Given the description of an element on the screen output the (x, y) to click on. 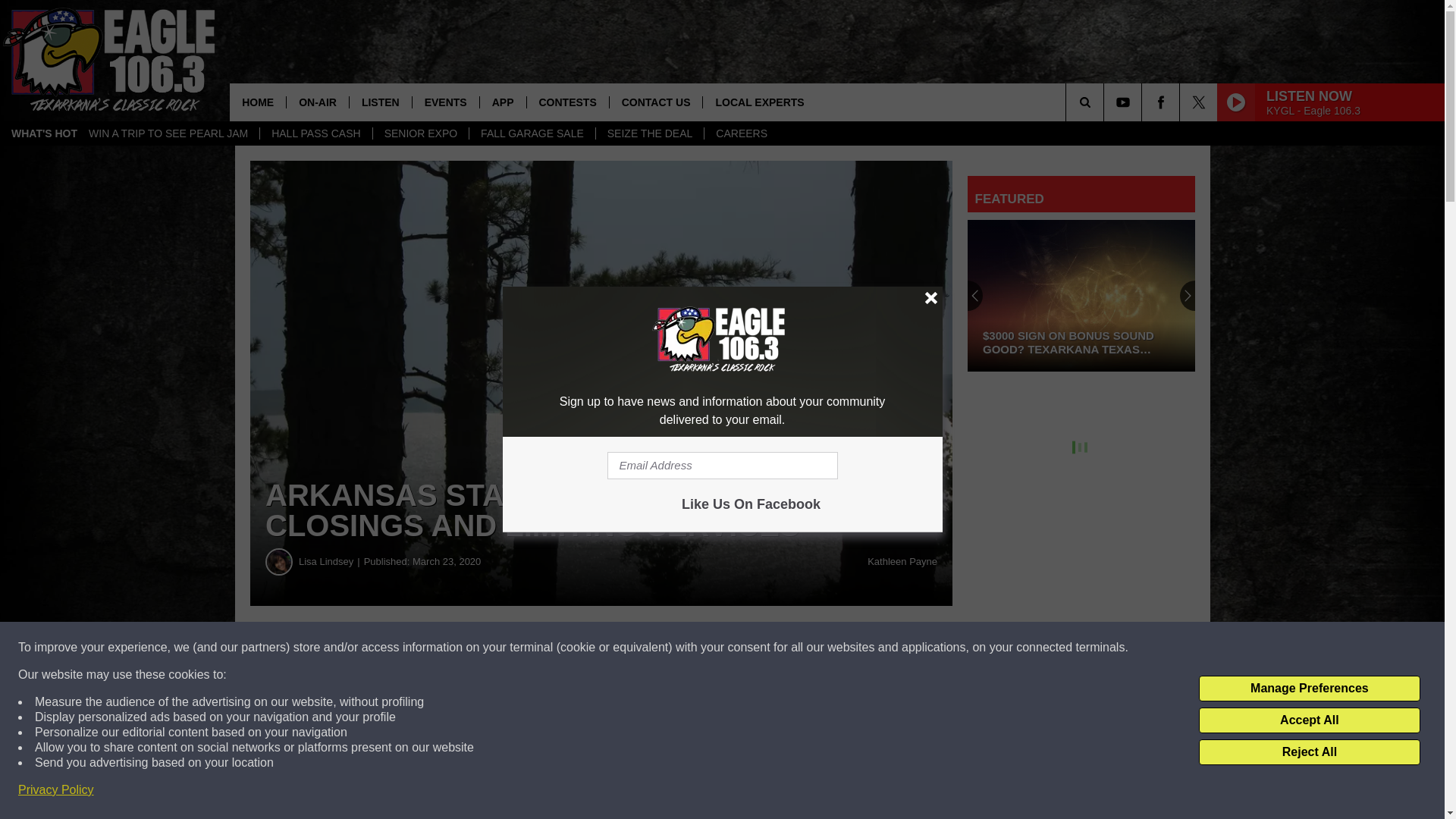
Email Address (722, 465)
Share on Twitter (741, 647)
Manage Preferences (1309, 688)
APP (502, 102)
Privacy Policy (55, 789)
CONTESTS (566, 102)
CONTACT US (655, 102)
LOCAL EXPERTS (758, 102)
CAREERS (740, 133)
Reject All (1309, 751)
SENIOR EXPO (420, 133)
FALL GARAGE SALE (531, 133)
WIN A TRIP TO SEE PEARL JAM (168, 133)
ON-AIR (317, 102)
LISTEN (380, 102)
